Given the description of an element on the screen output the (x, y) to click on. 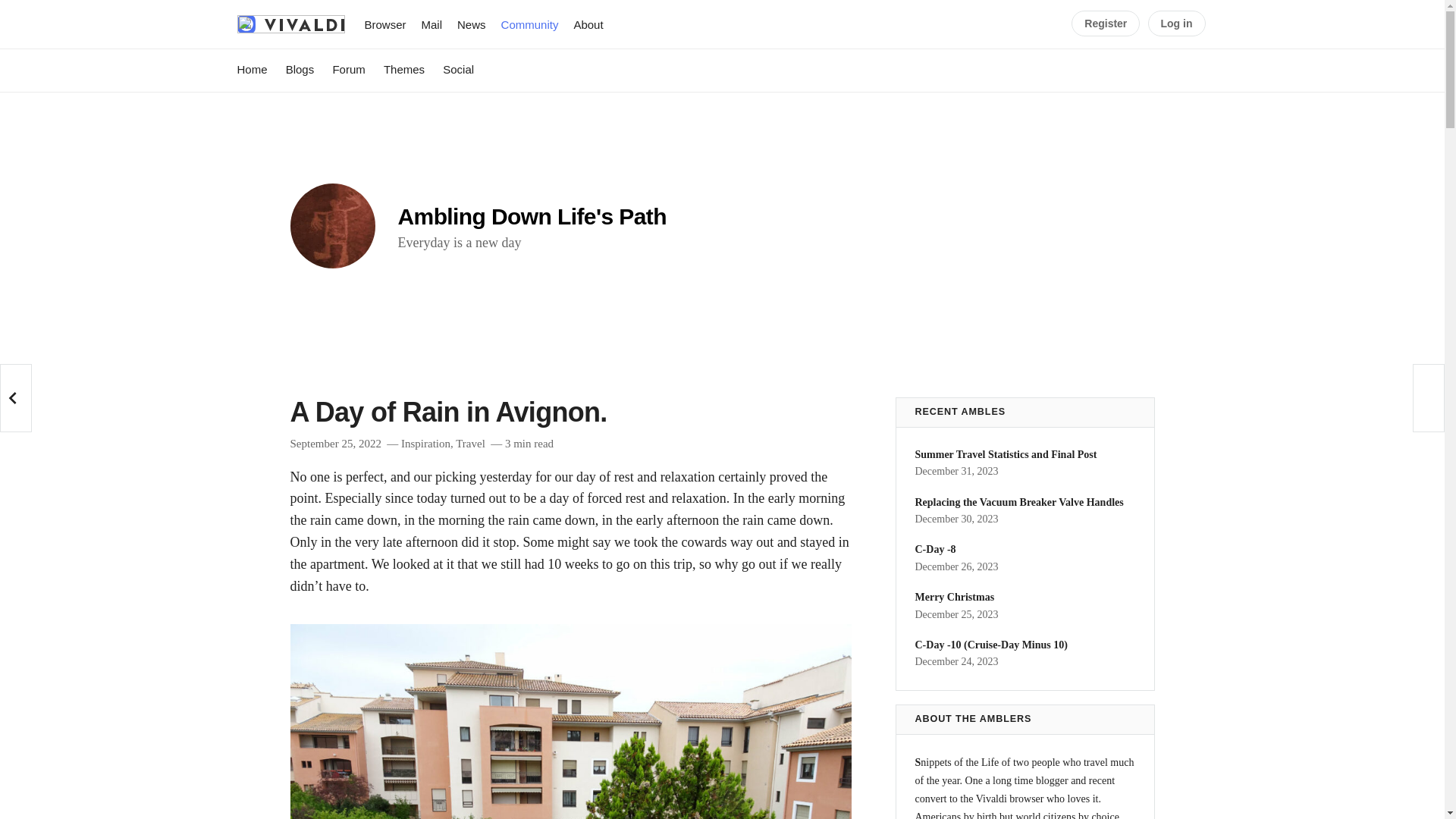
Browser (531, 224)
Mail (384, 24)
Travel (431, 24)
About (469, 443)
Log in (588, 24)
News (1176, 23)
Merry Christmas (471, 24)
Community (954, 596)
Skip to content (529, 24)
Register (334, 443)
Replacing the Vacuum Breaker Valve Handles (1105, 23)
Inspiration (1018, 501)
C-Day -8 (425, 443)
